Given the description of an element on the screen output the (x, y) to click on. 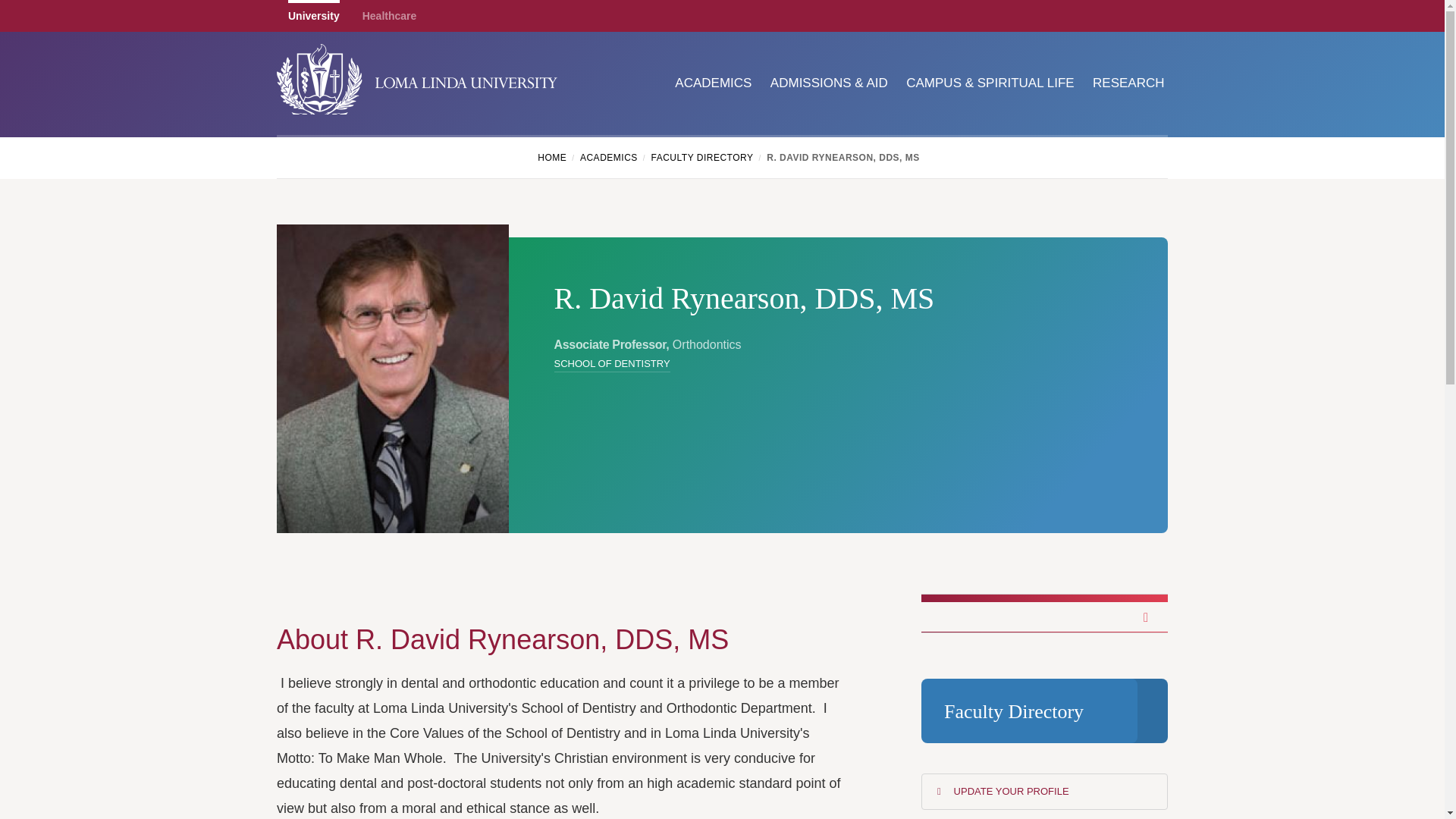
HOME (550, 157)
FACULTY DIRECTORY (706, 157)
SCHOOL OF DENTISTRY (611, 363)
  UPDATE YOUR PROFILE (1044, 791)
ACADEMICS (705, 82)
Faculty Directory (1044, 710)
Healthcare (389, 15)
University (313, 15)
RESEARCH (1120, 82)
ACADEMICS (613, 157)
